Given the description of an element on the screen output the (x, y) to click on. 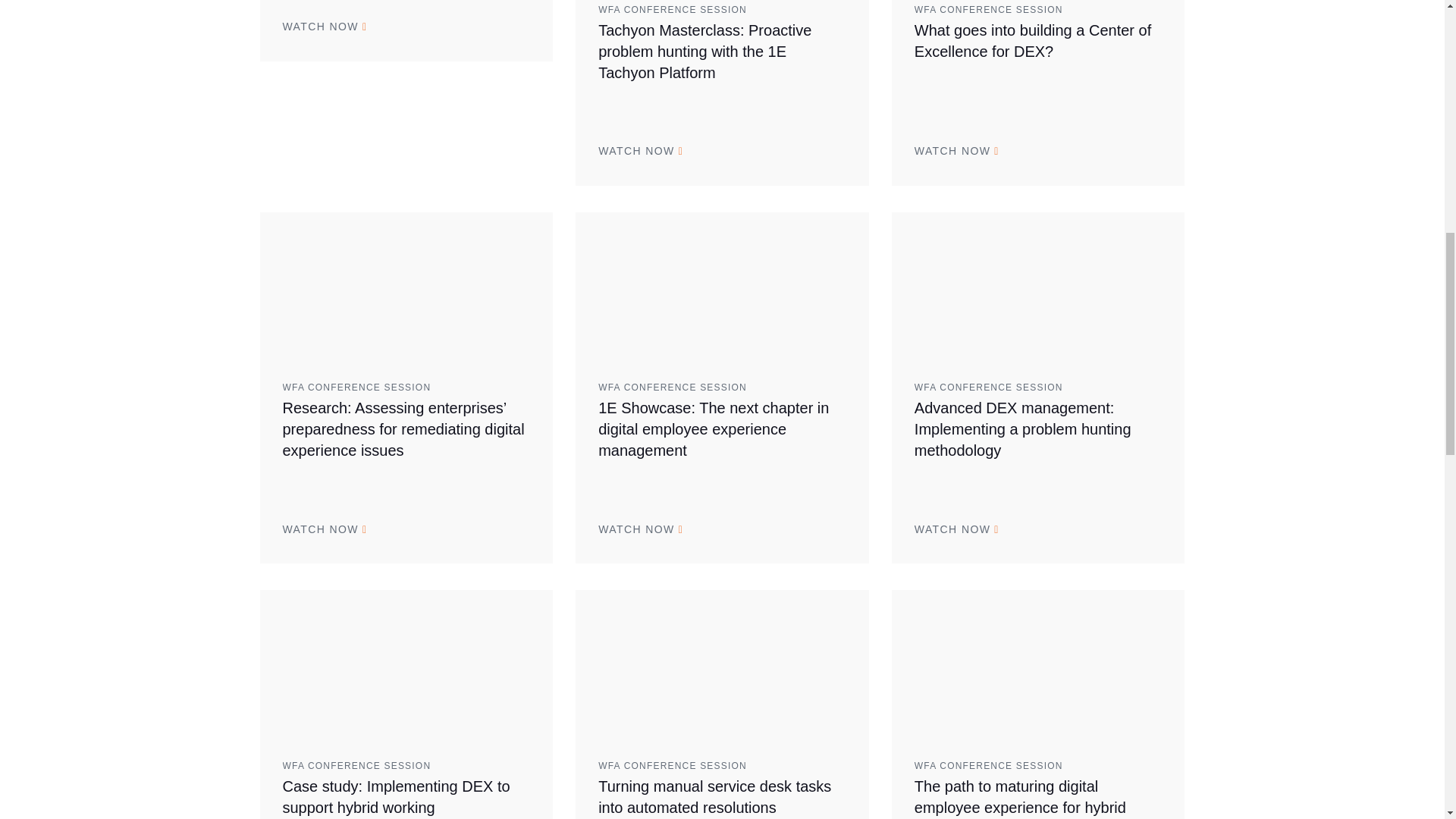
WFA SEP21 Steve-Brasen (406, 285)
Turning manual service desk tasks into automated resolutions (722, 662)
WFA SEP21 Rob Peterscheck (722, 285)
WFA-SEP21-Cameron Fuller (1038, 285)
Case study: Implementing DEX to support hybrid working (406, 662)
